Given the description of an element on the screen output the (x, y) to click on. 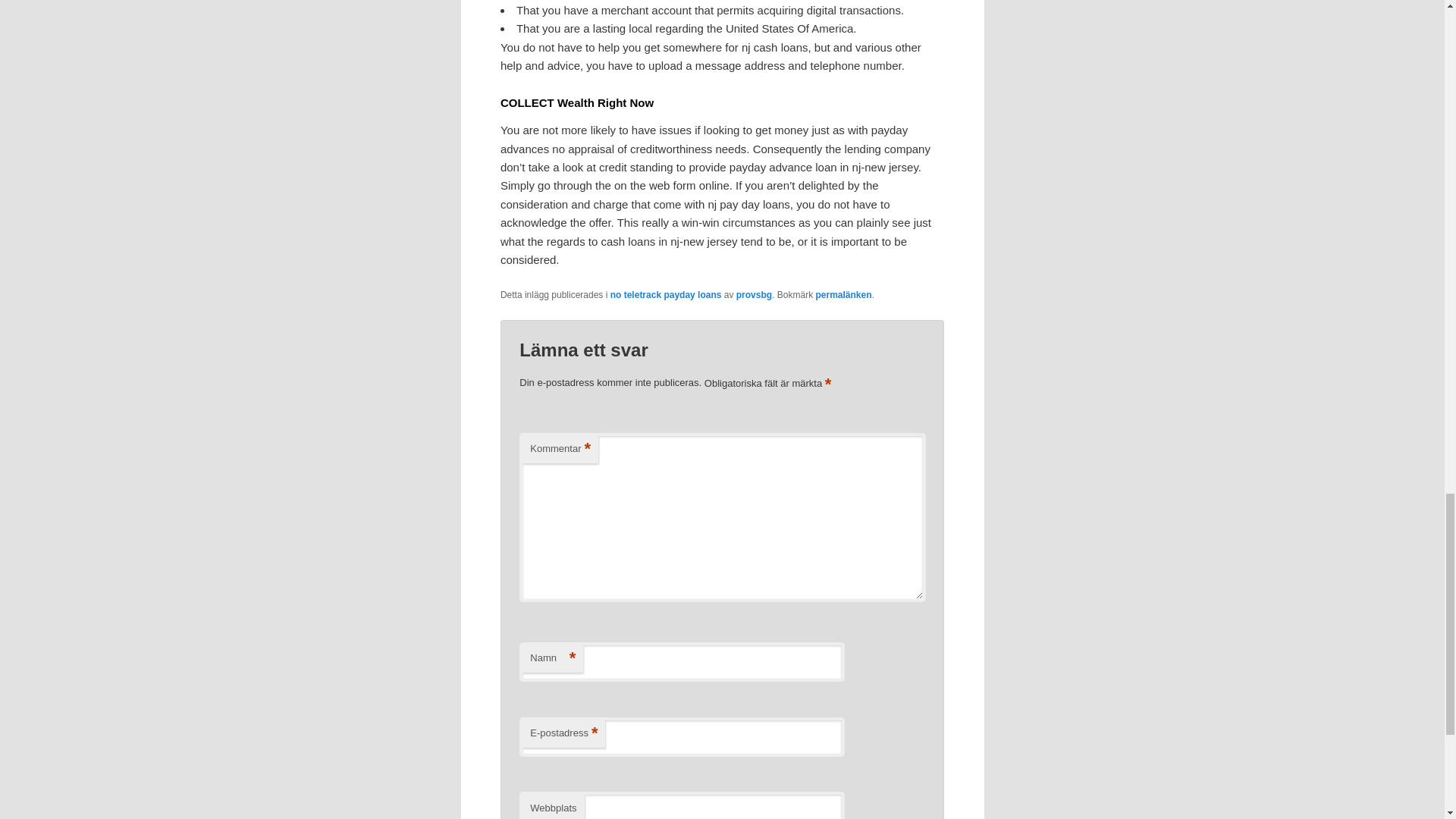
no teletrack payday loans (666, 294)
provsbg (753, 294)
